Given the description of an element on the screen output the (x, y) to click on. 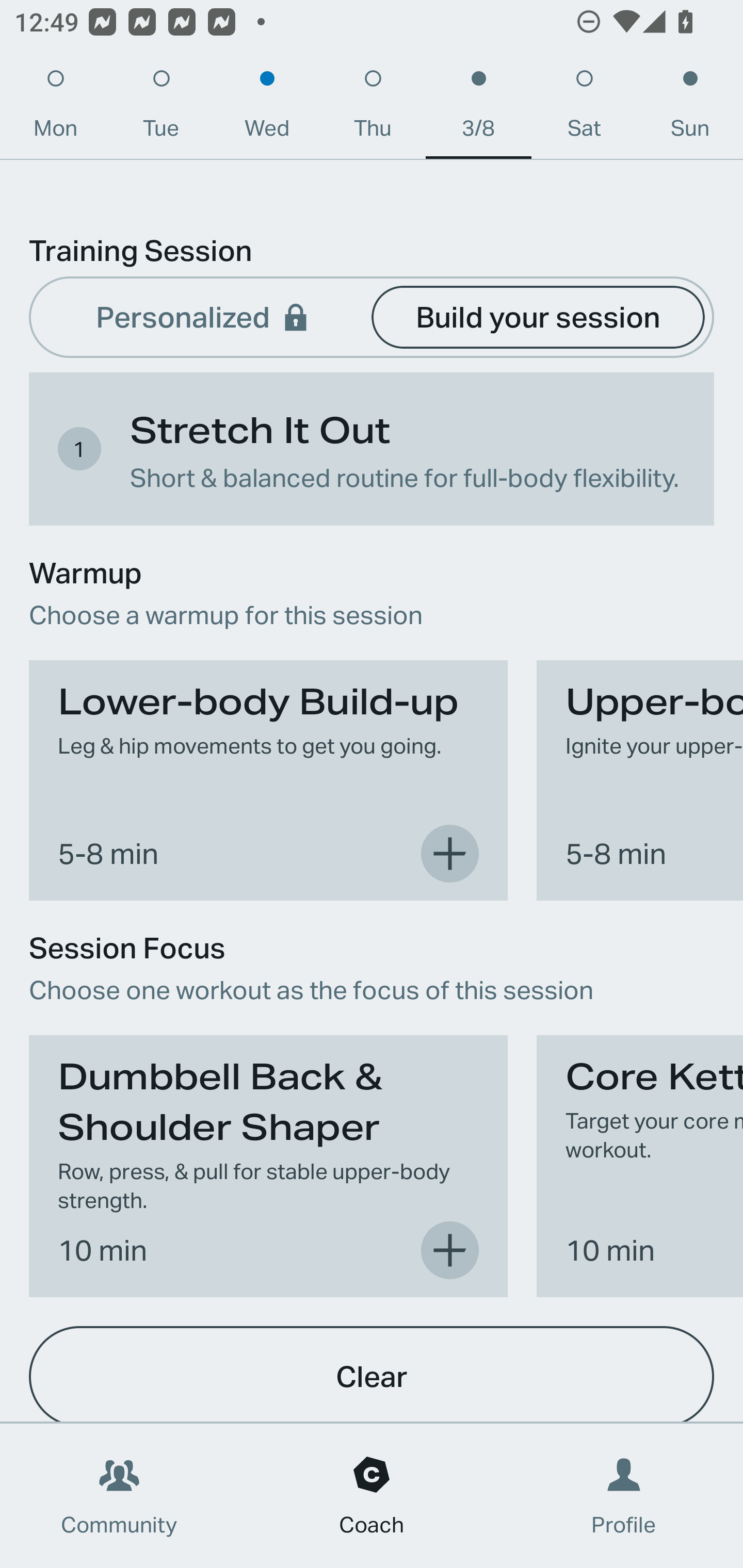
Mon (55, 108)
Tue (160, 108)
Wed (266, 108)
Thu (372, 108)
3/8 (478, 108)
Sat (584, 108)
Sun (690, 108)
Personalized (204, 315)
Build your session (538, 315)
Clear (371, 1374)
Community (119, 1495)
Profile (624, 1495)
